Given the description of an element on the screen output the (x, y) to click on. 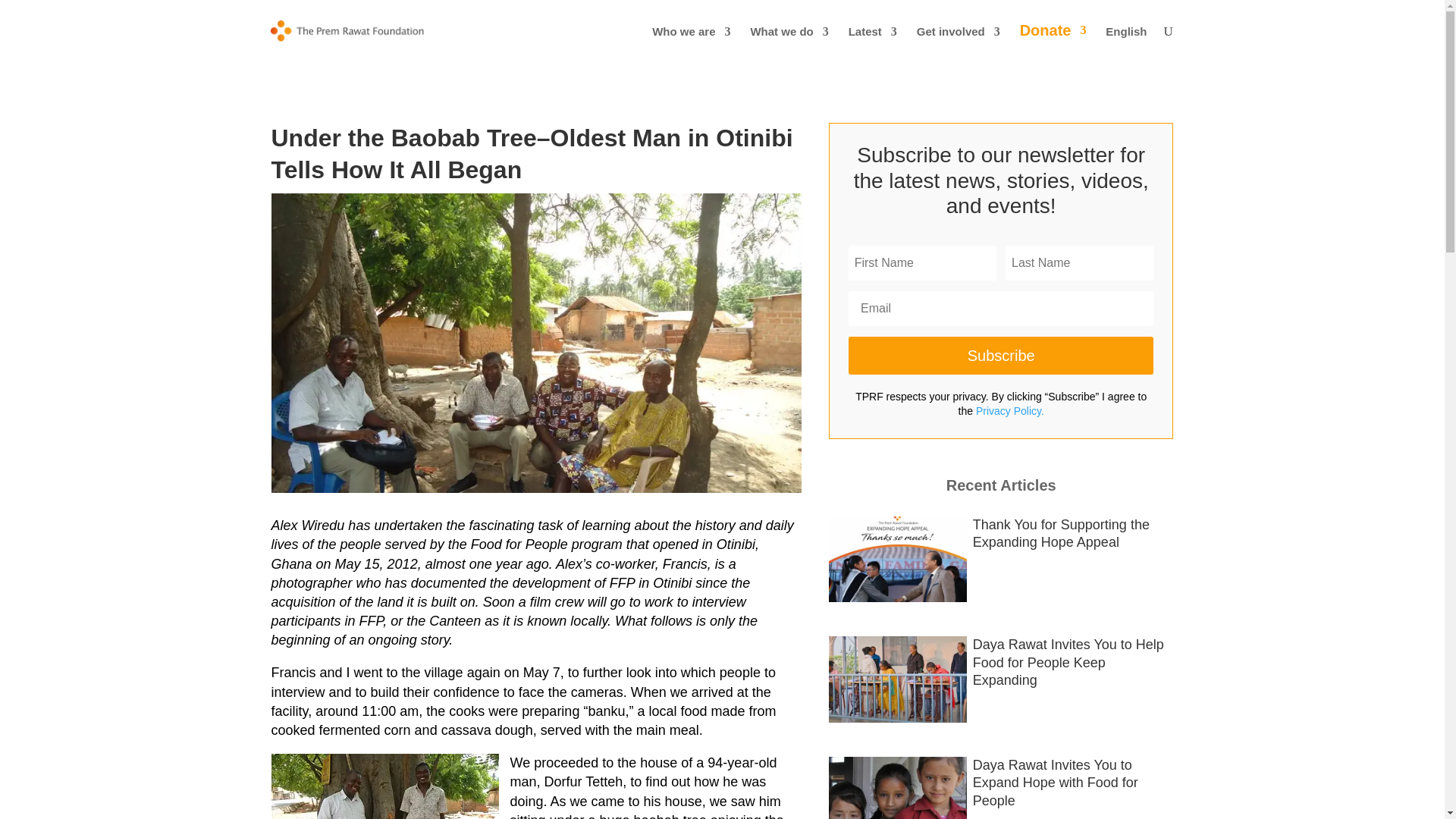
English (1126, 44)
Get involved (958, 44)
Latest (872, 44)
Who we are (691, 44)
English (1126, 44)
Donate (1053, 42)
What we do (788, 44)
